Given the description of an element on the screen output the (x, y) to click on. 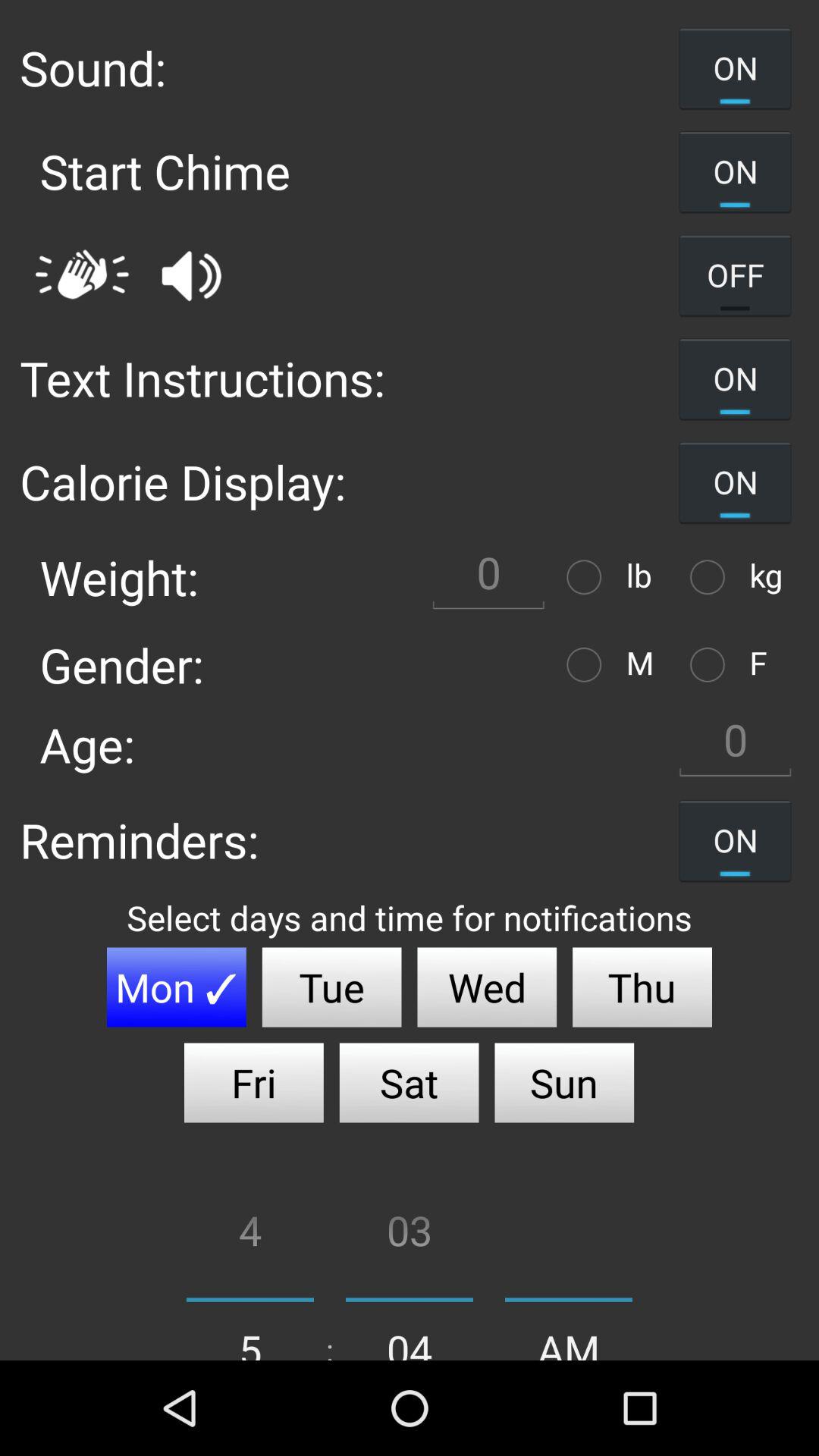
data entry field (735, 744)
